Given the description of an element on the screen output the (x, y) to click on. 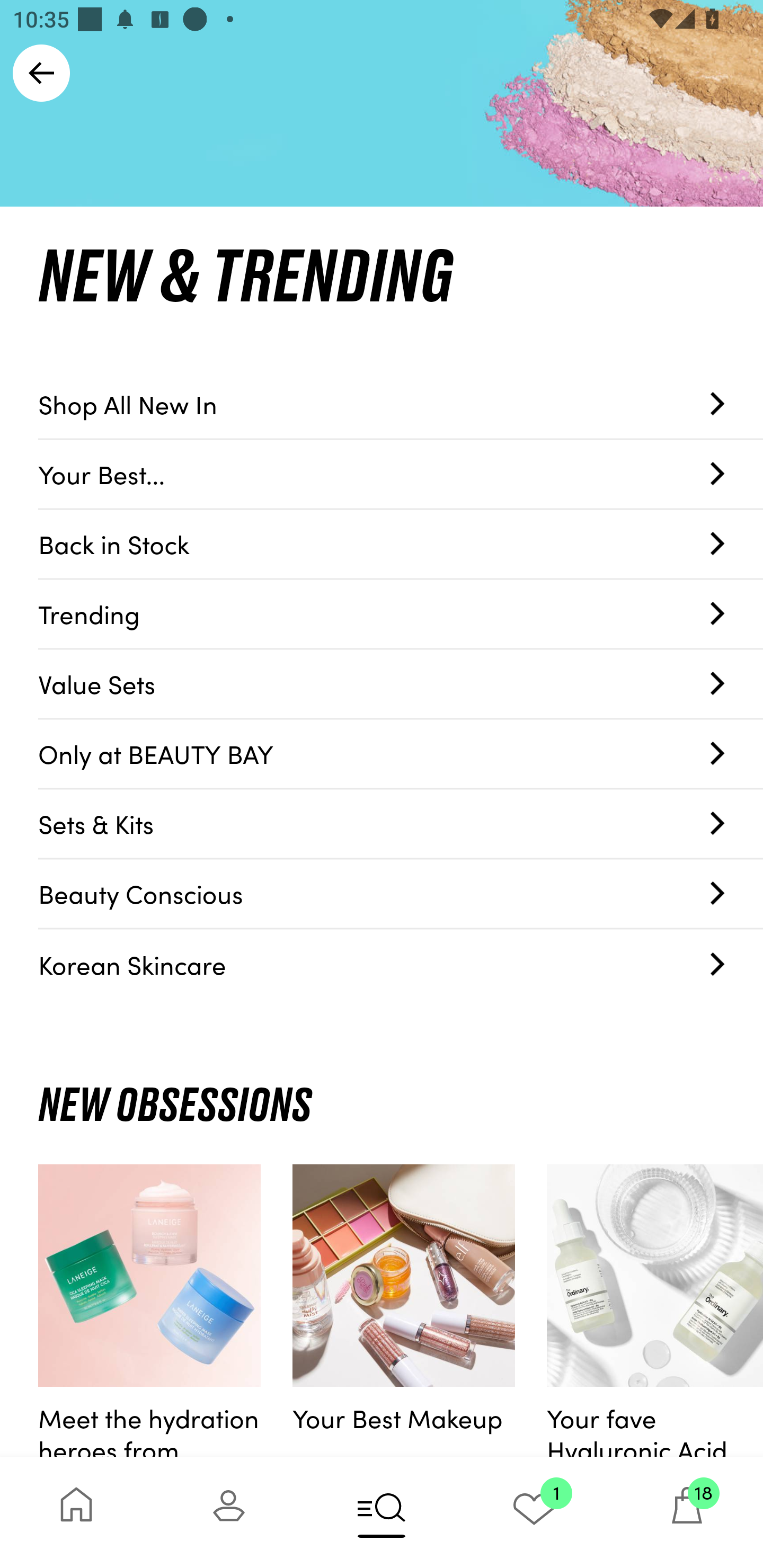
Shop All New In (400, 404)
Your Best... (400, 474)
Back in Stock (400, 544)
Trending (400, 614)
Value Sets (400, 684)
Only at BEAUTY BAY (400, 753)
Sets & Kits (400, 823)
Beauty Conscious  (400, 894)
Korean Skincare (400, 963)
Meet the hydration heroes from Laneige (149, 1310)
Your Best Makeup (403, 1310)
Your fave Hyaluronic Acid serum, made better (655, 1310)
1 (533, 1512)
18 (686, 1512)
